Given the description of an element on the screen output the (x, y) to click on. 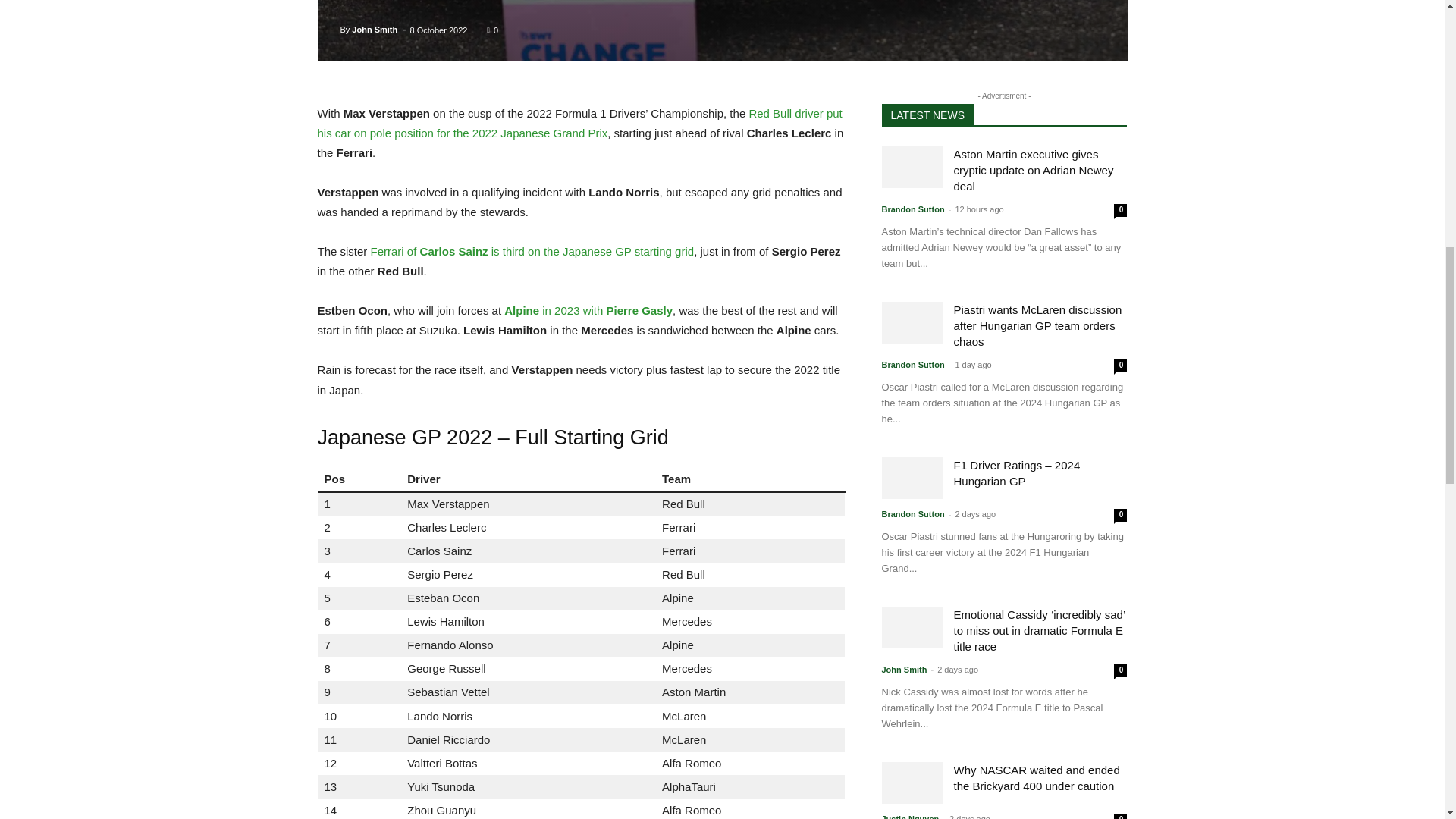
John Smith (374, 29)
0 (491, 29)
F1 Grand Prix of Japan - Qualifying (721, 30)
